Given the description of an element on the screen output the (x, y) to click on. 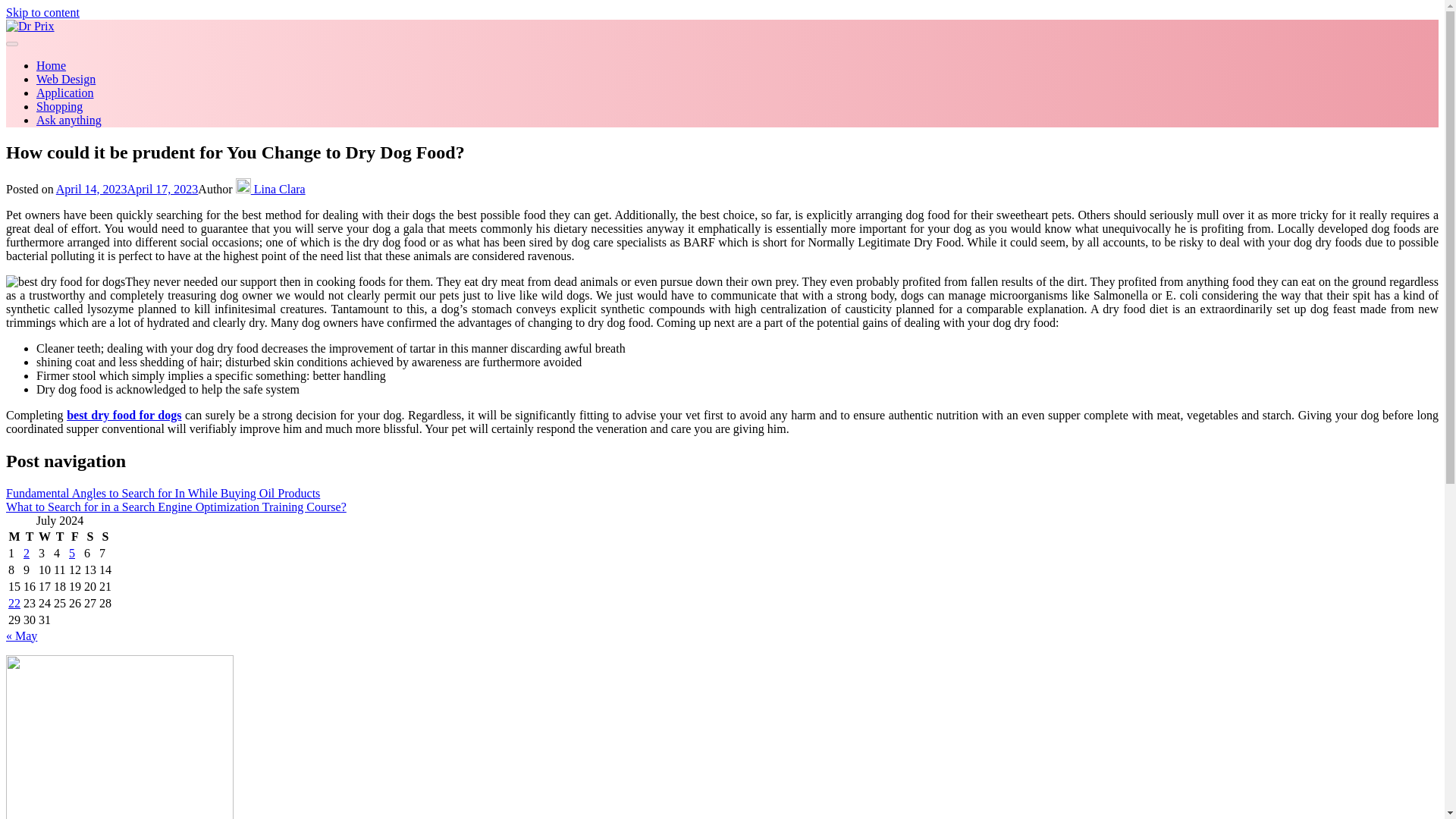
Web Design (66, 78)
5 (71, 553)
2 (26, 553)
Home (50, 65)
Wednesday (43, 536)
April 14, 2023April 17, 2023 (127, 188)
Friday (74, 536)
Sunday (105, 536)
Shopping (59, 106)
best dry food for dogs (123, 414)
Skip to content (42, 11)
Thursday (59, 536)
Monday (14, 536)
